Given the description of an element on the screen output the (x, y) to click on. 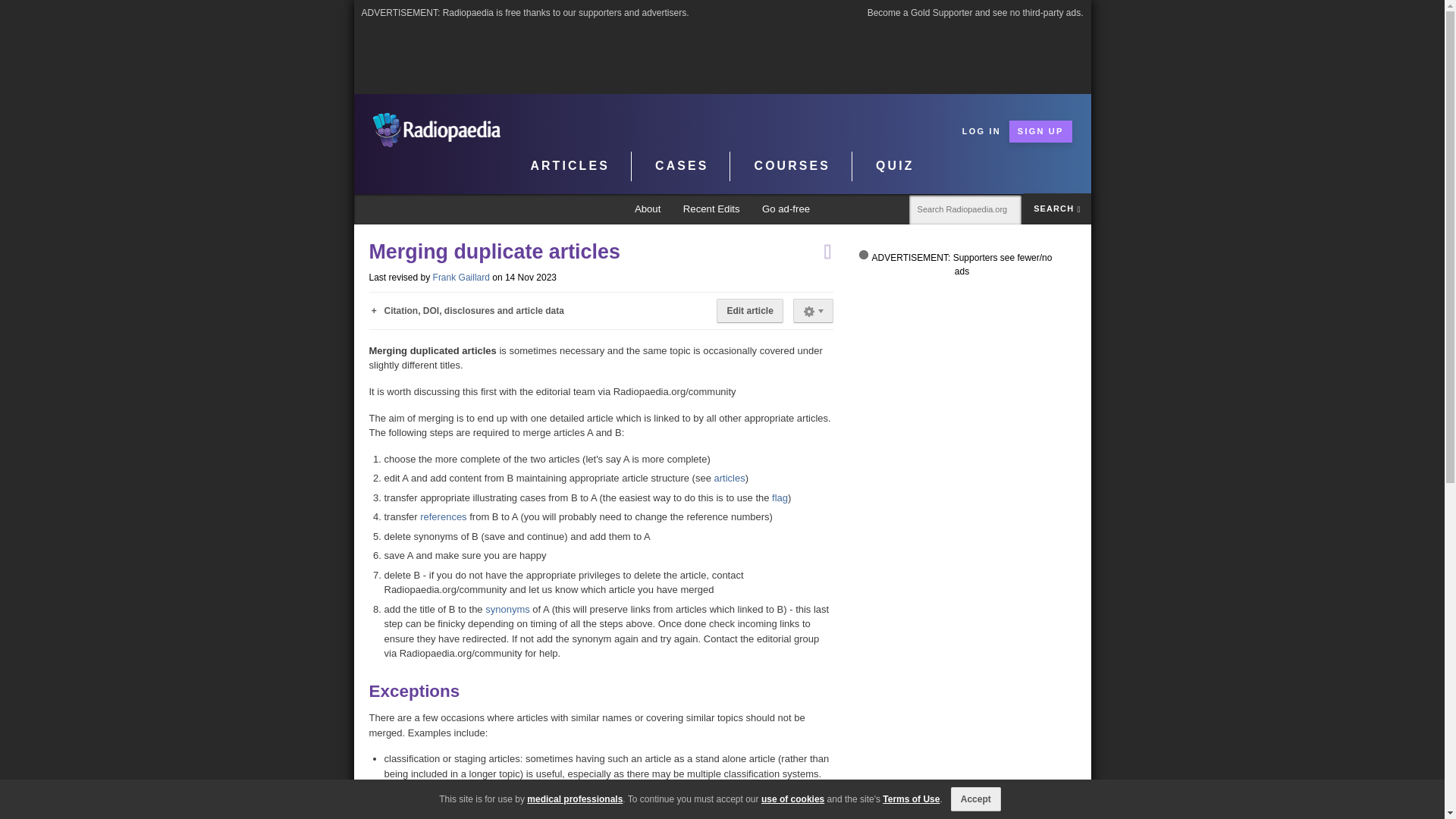
About (647, 209)
COURSES (791, 166)
CASES (681, 166)
Go ad-free (785, 209)
LOG IN (981, 131)
SEARCH (1056, 208)
ARTICLES (569, 166)
QUIZ (895, 166)
Edit article (749, 310)
Frank Gaillard (460, 276)
SIGN UP (1040, 131)
Recent Edits (710, 209)
